Given the description of an element on the screen output the (x, y) to click on. 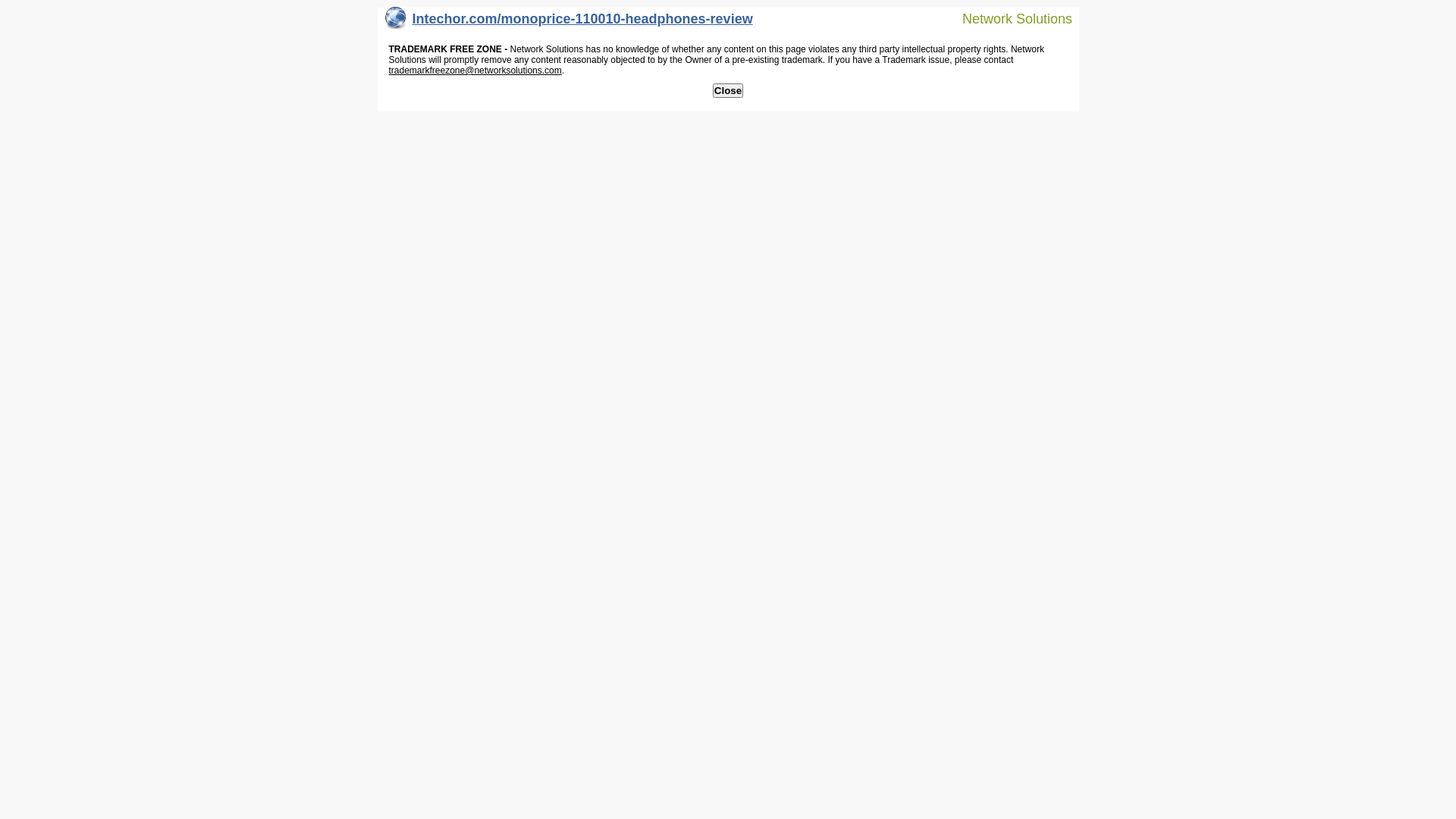
Close Element type: text (727, 90)
trademarkfreezone@networksolutions.com Element type: text (474, 70)
Network Solutions Element type: text (1007, 17)
Intechor.com/monoprice-110010-headphones-review Element type: text (569, 21)
